Given the description of an element on the screen output the (x, y) to click on. 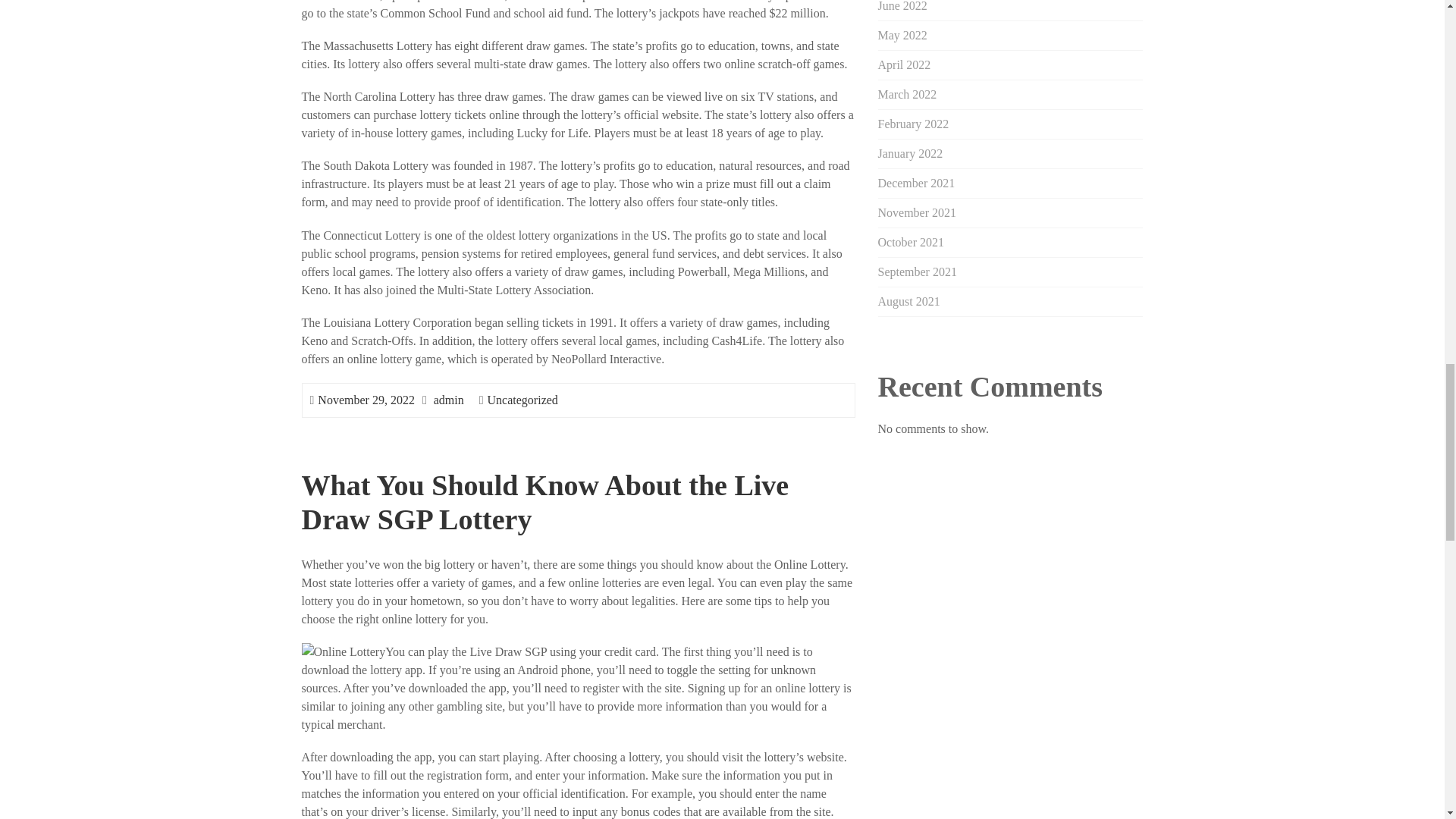
admin (448, 399)
What You Should Know About the Live Draw SGP Lottery (545, 502)
Uncategorized (522, 399)
November 29, 2022 (365, 399)
